Given the description of an element on the screen output the (x, y) to click on. 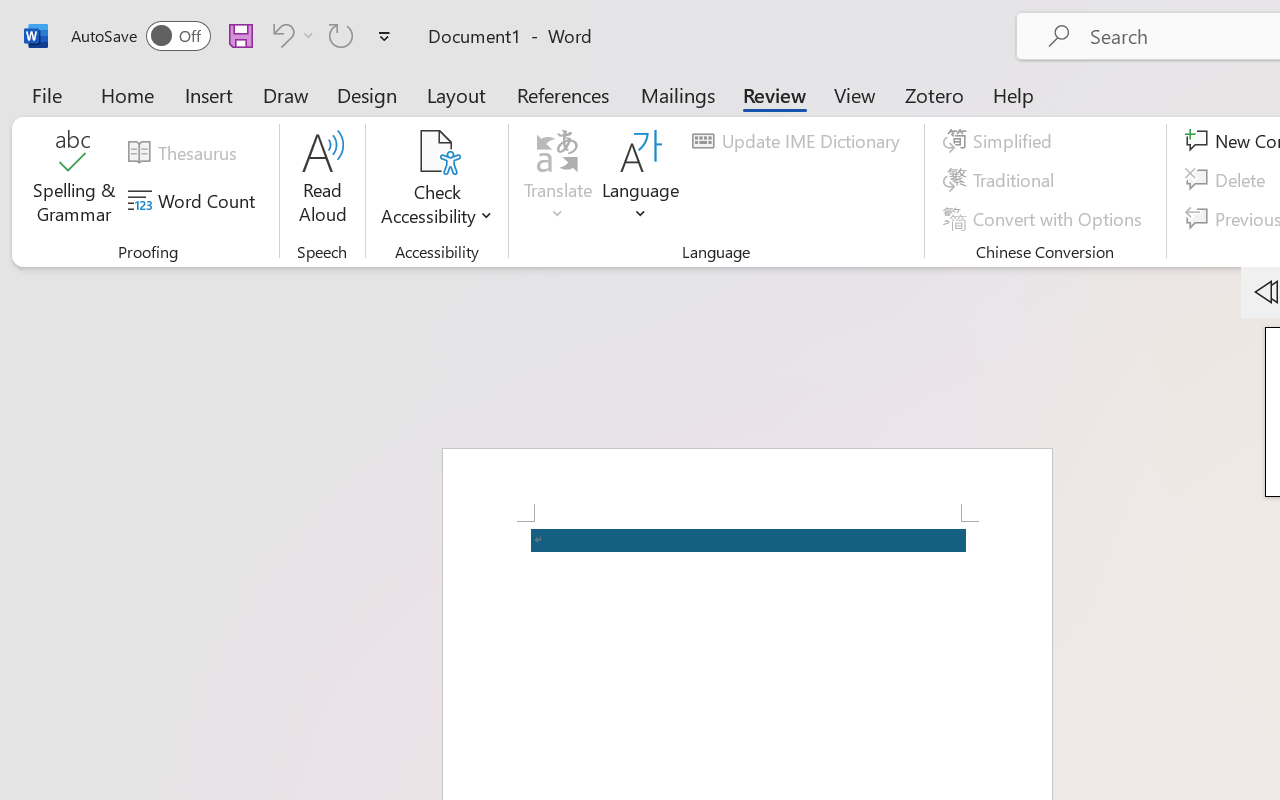
Read Aloud (322, 179)
Convert with Options... (1045, 218)
Language (641, 179)
Repeat Accessibility Checker (341, 35)
Undo Apply Quick Style Set (290, 35)
Undo Apply Quick Style Set (280, 35)
Thesaurus... (185, 153)
